Given the description of an element on the screen output the (x, y) to click on. 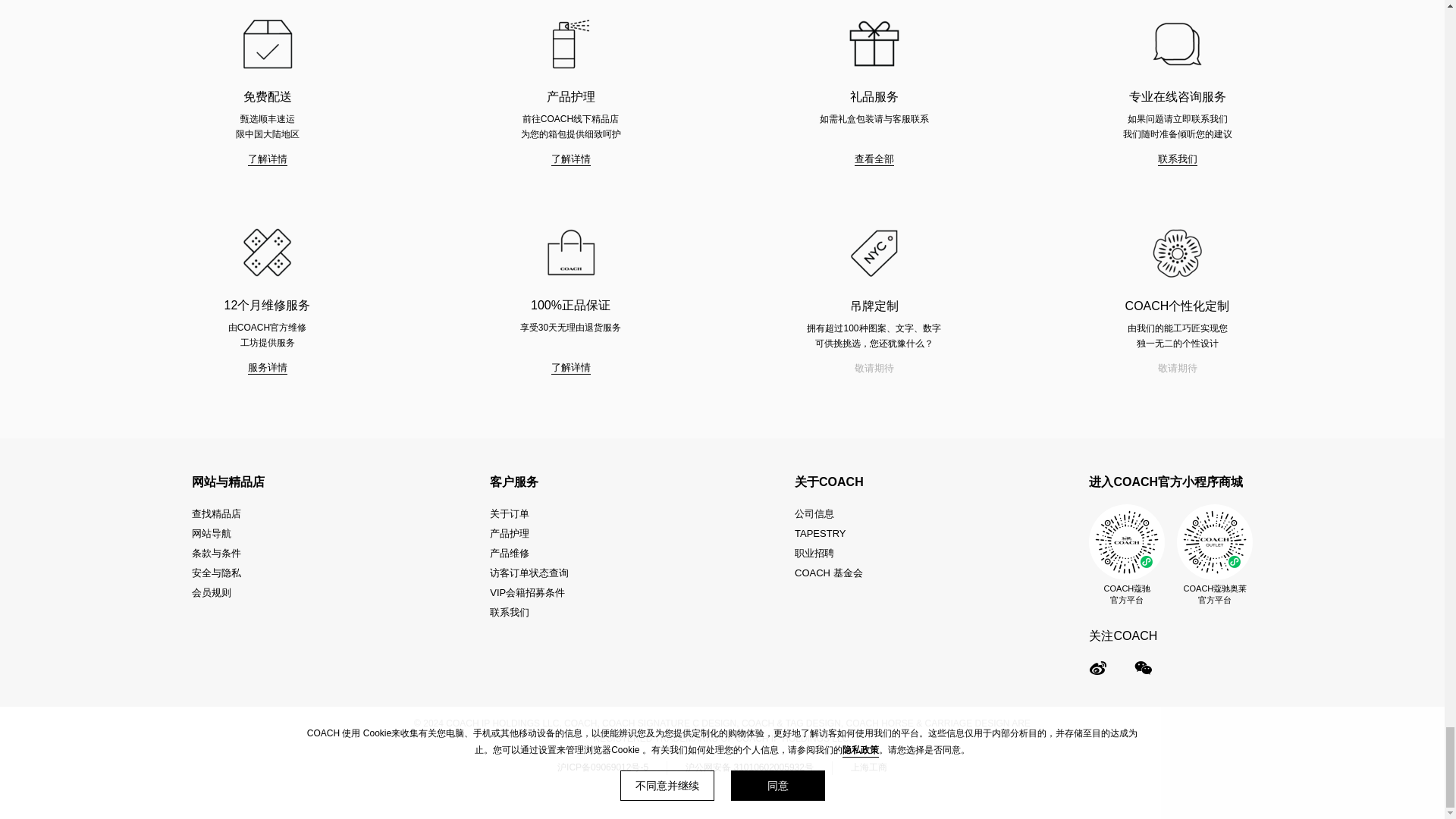
TAPESTRY (828, 533)
